Given the description of an element on the screen output the (x, y) to click on. 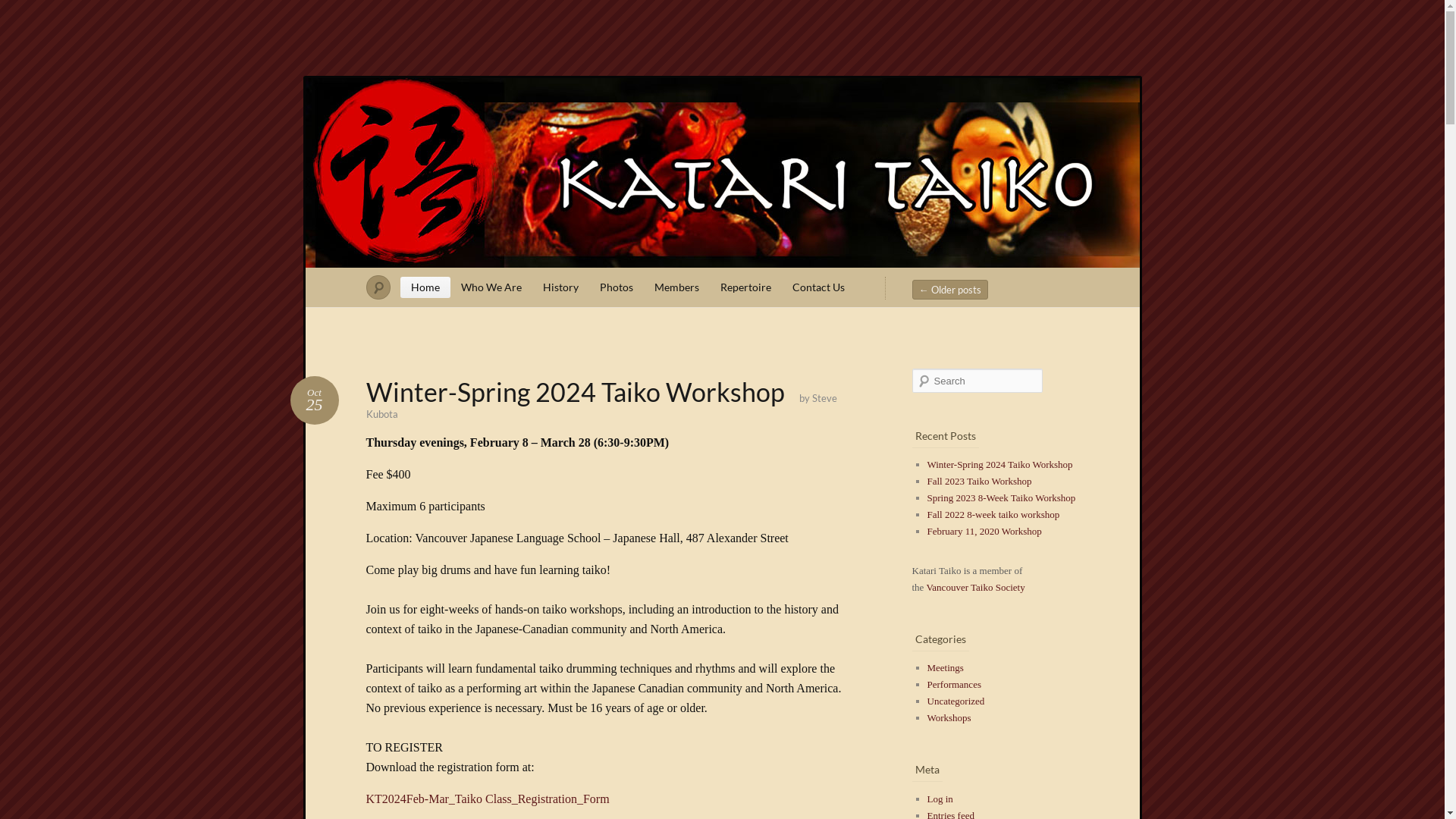
Spring 2023 8-Week Taiko Workshop Element type: text (1000, 497)
Fall 2023 Taiko Workshop Element type: text (978, 480)
Workshops Element type: text (948, 717)
History Element type: text (560, 287)
Home Element type: text (425, 287)
Fall 2022 8-week taiko workshop Element type: text (992, 514)
Who We Are Element type: text (491, 287)
Winter-Spring 2024 Taiko Workshop Element type: text (999, 464)
KT2024Feb-Mar_Taiko Class_Registration_Form Element type: text (486, 798)
Repertoire Element type: text (745, 287)
Meetings Element type: text (944, 667)
Log in Element type: text (939, 798)
Katari Taiko Element type: text (721, 172)
Performances Element type: text (953, 684)
Steve Kubota Element type: text (600, 406)
February 11, 2020 Workshop Element type: text (983, 530)
Vancouver Taiko Society Element type: text (974, 587)
Photos Element type: text (615, 287)
Members Element type: text (676, 287)
Uncategorized Element type: text (955, 700)
Contact Us Element type: text (817, 287)
Oct
25 Element type: text (313, 400)
Winter-Spring 2024 Taiko Workshop Element type: text (574, 391)
Search Element type: text (21, 7)
